Given the description of an element on the screen output the (x, y) to click on. 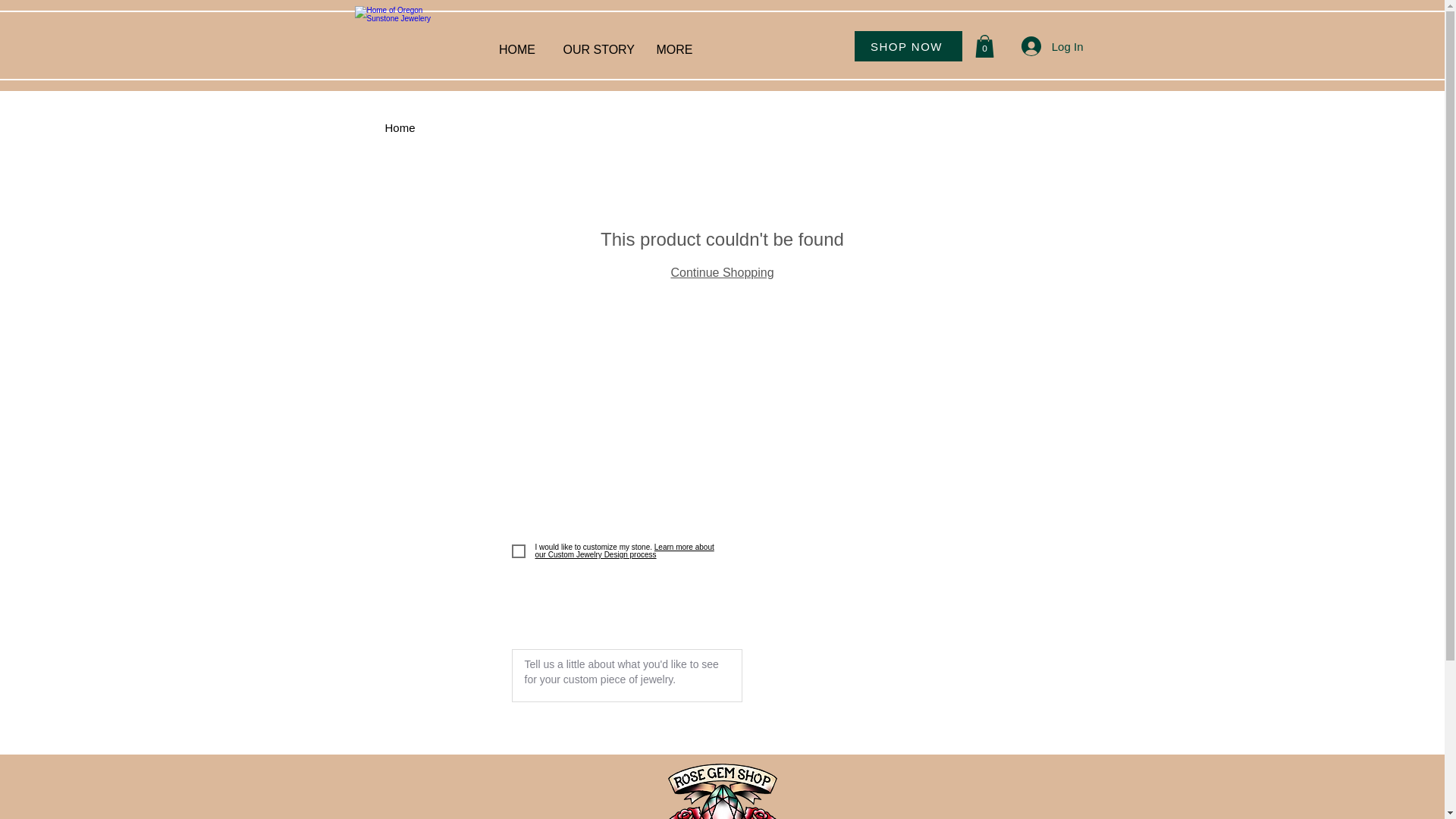
Home (399, 127)
Log In (1052, 45)
OUR STORY (595, 42)
HOME (517, 42)
Continue Shopping (721, 272)
Learn more about our Custom Jewelry Design process (624, 550)
SHOP NOW (906, 46)
